Given the description of an element on the screen output the (x, y) to click on. 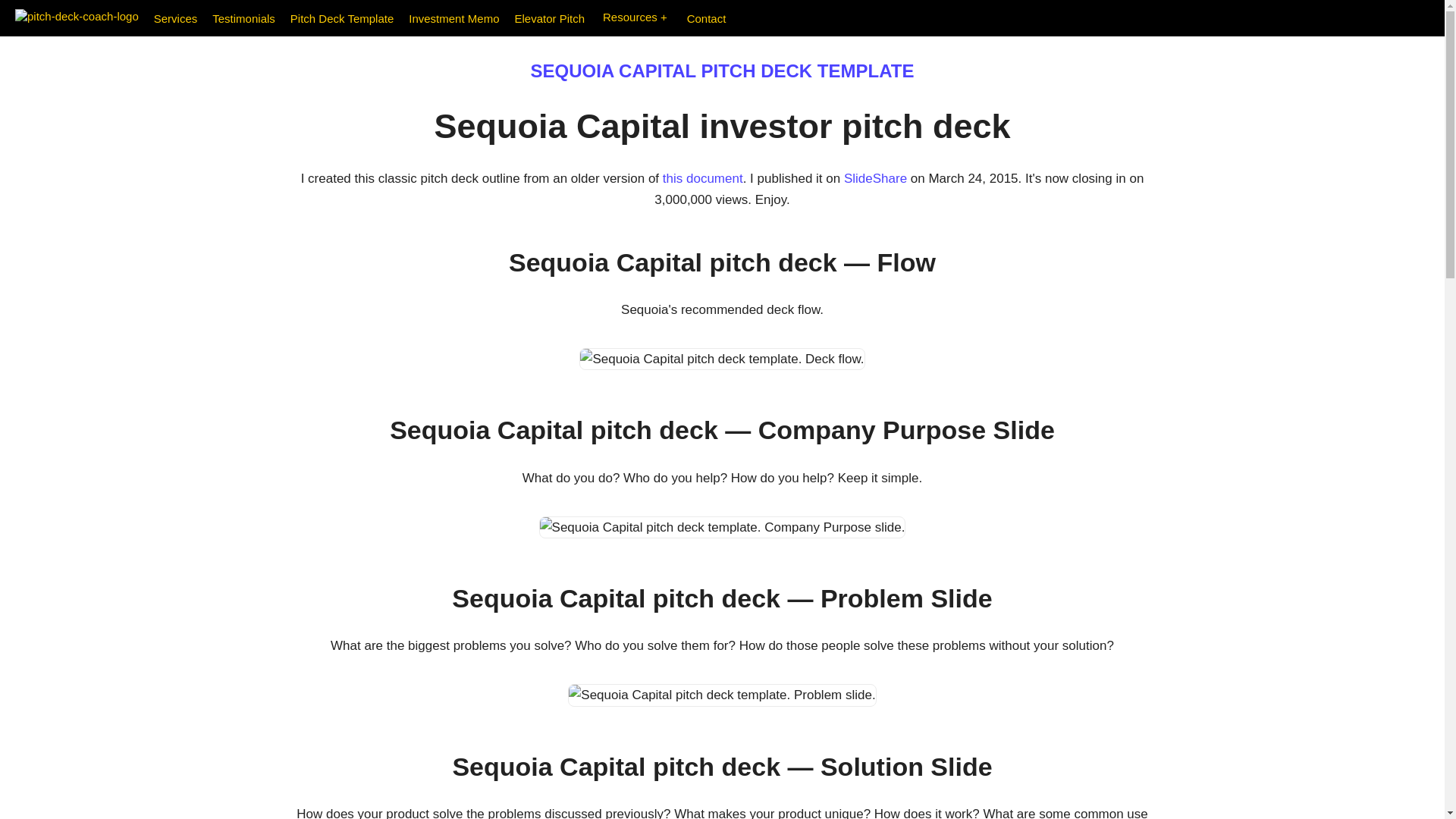
this document (702, 178)
Elevator Pitch (542, 13)
Investment Memo (446, 13)
SlideShare (875, 178)
Contact (698, 13)
Pitch Deck Template (334, 13)
Services (168, 13)
Testimonials (235, 13)
